Given the description of an element on the screen output the (x, y) to click on. 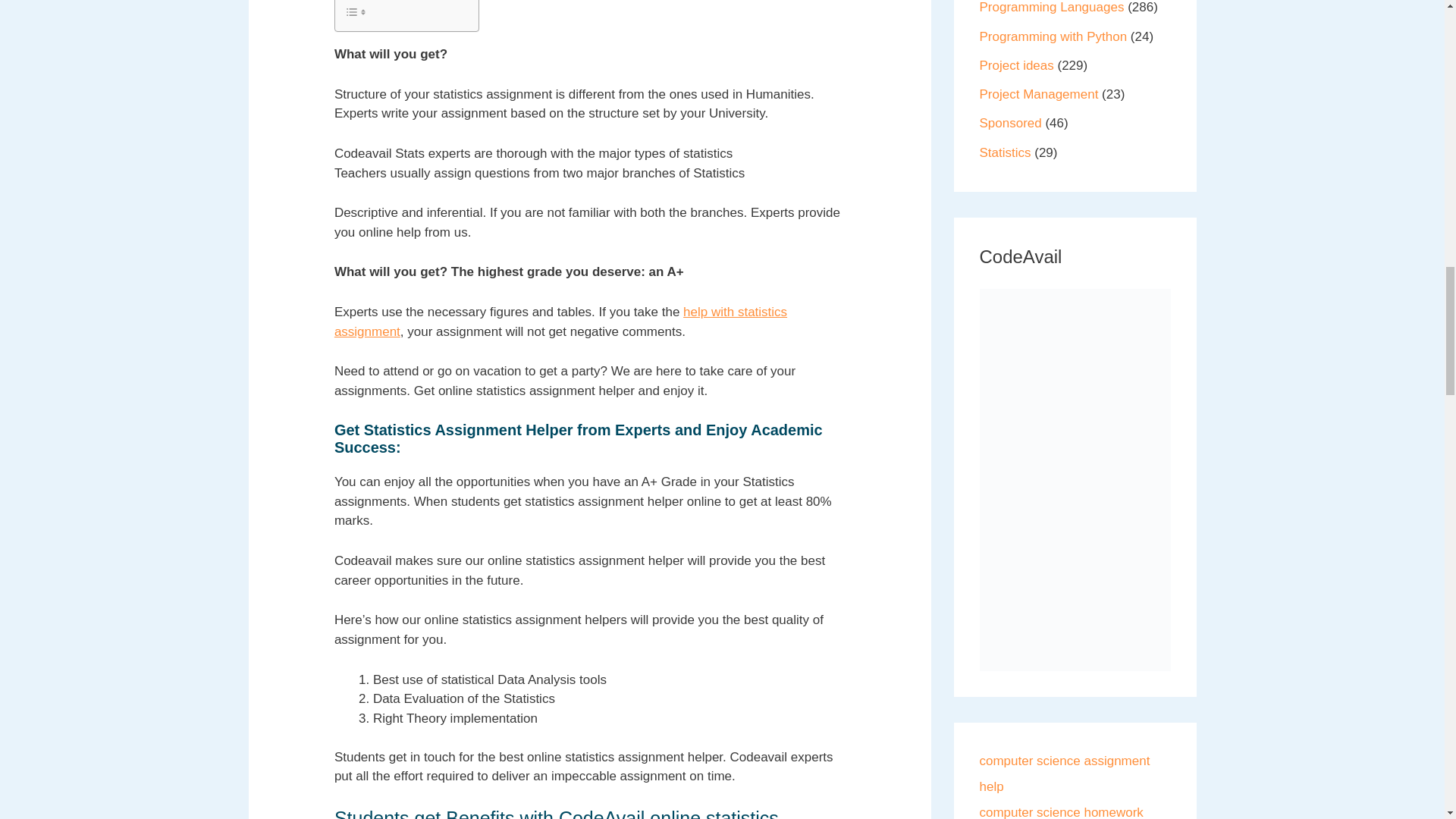
help with statistics assignment (560, 321)
